Given the description of an element on the screen output the (x, y) to click on. 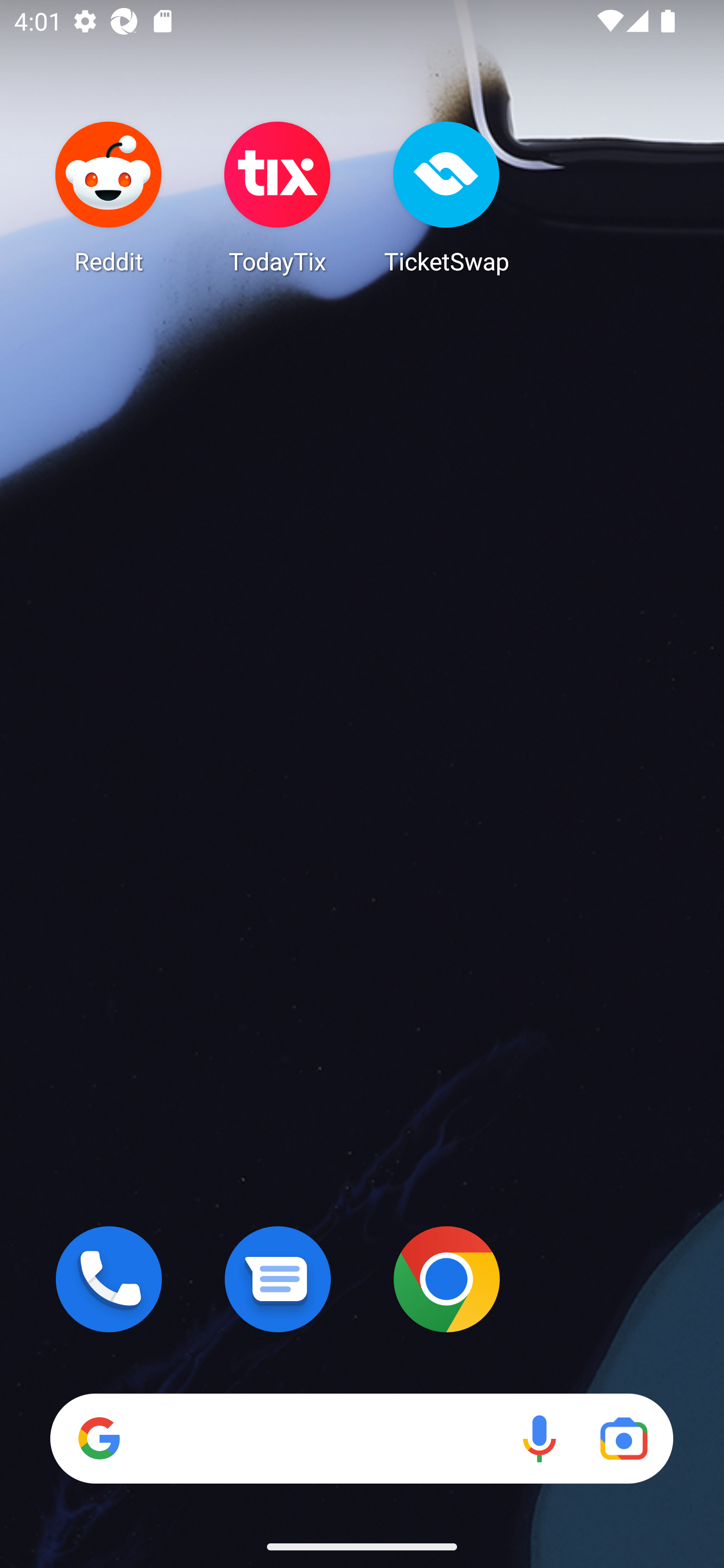
Reddit (108, 196)
TodayTix (277, 196)
TicketSwap (445, 196)
Phone (108, 1279)
Messages (277, 1279)
Chrome (446, 1279)
Voice search (539, 1438)
Google Lens (623, 1438)
